Given the description of an element on the screen output the (x, y) to click on. 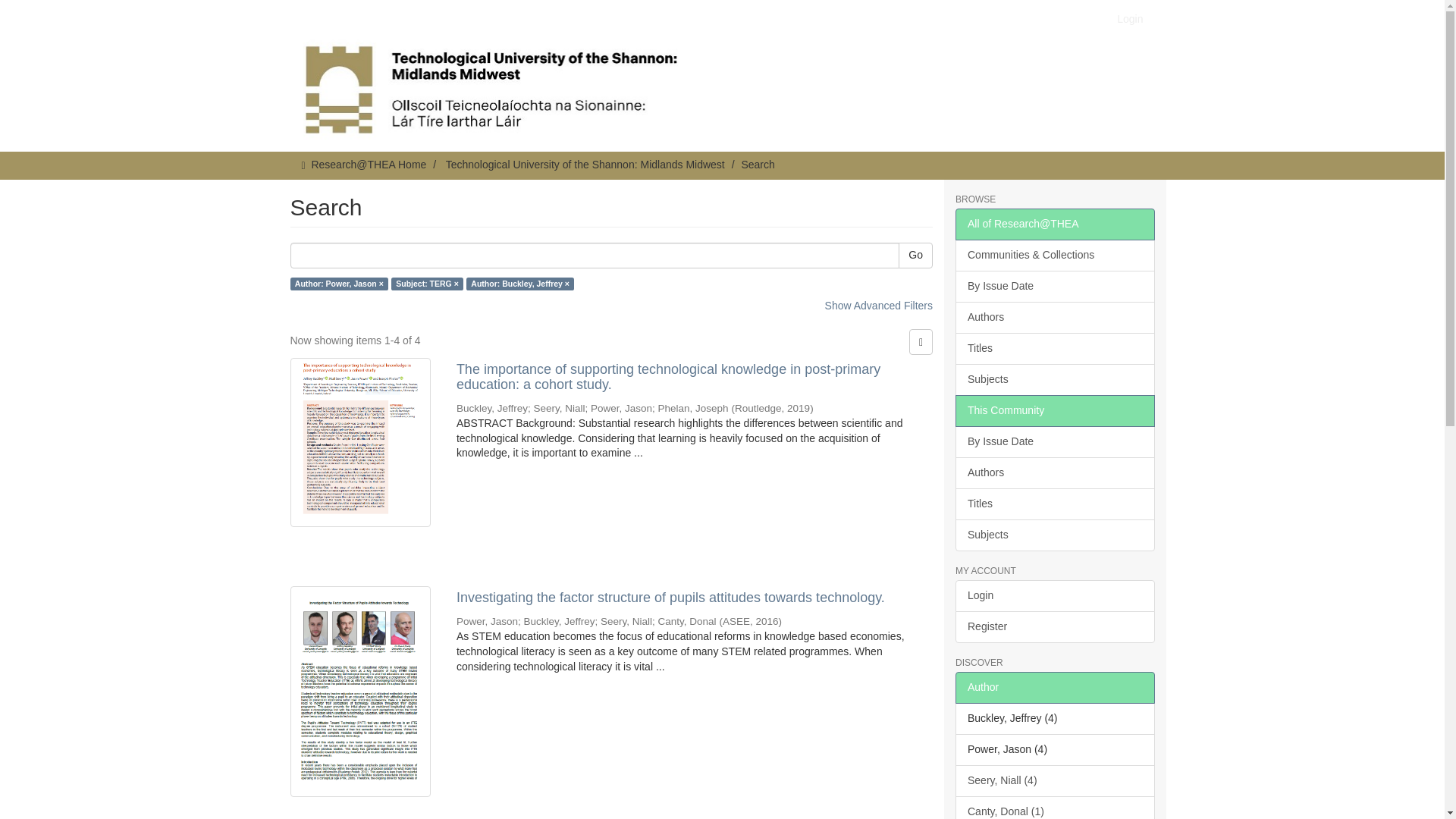
Go (915, 255)
Show Advanced Filters (879, 305)
Technological University of the Shannon: Midlands Midwest (585, 164)
Login (1129, 18)
